Given the description of an element on the screen output the (x, y) to click on. 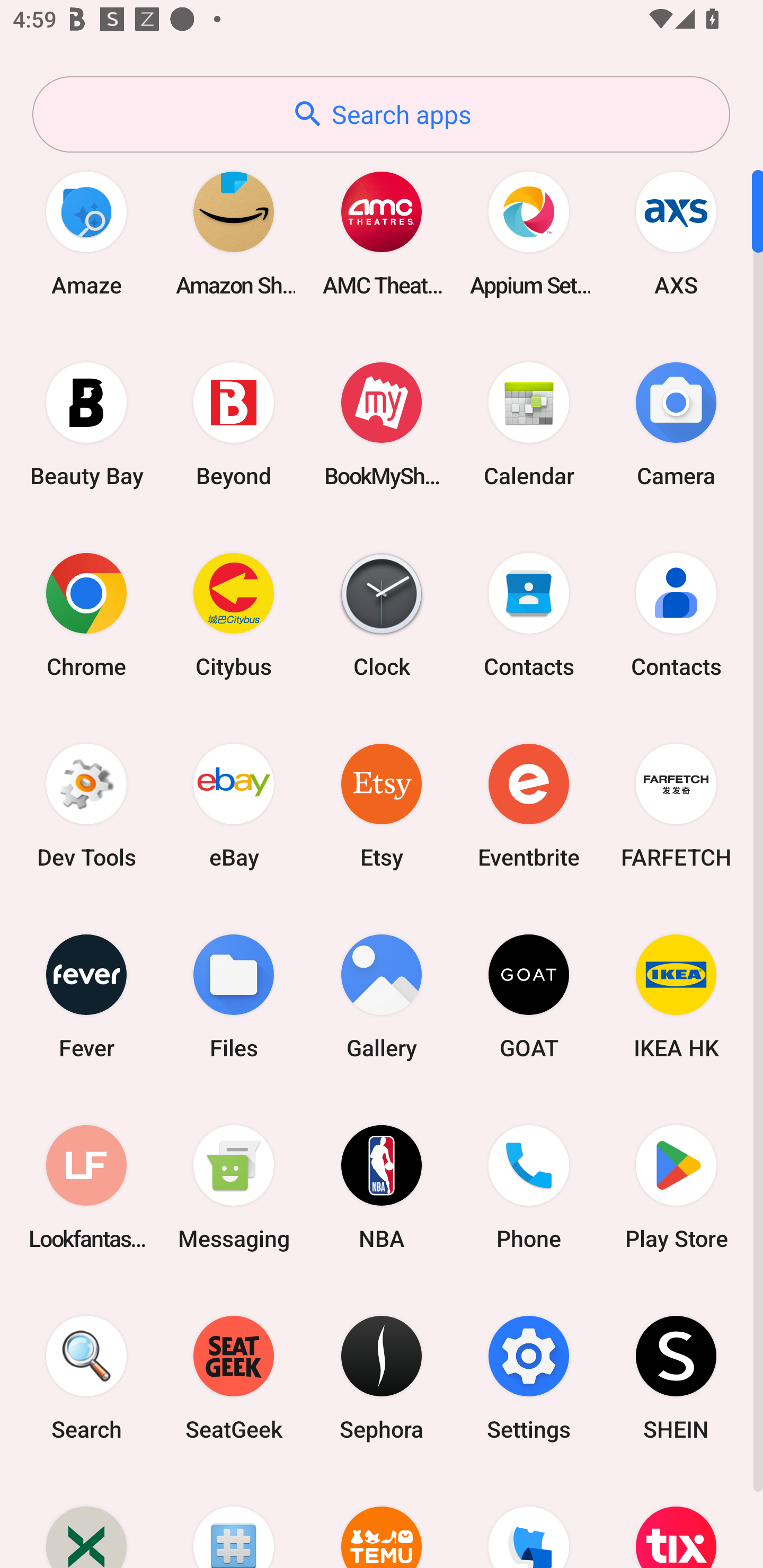
  Search apps (381, 114)
Amaze (86, 233)
Amazon Shopping (233, 233)
AMC Theatres (381, 233)
Appium Settings (528, 233)
AXS (676, 233)
Beauty Bay (86, 424)
Beyond (233, 424)
BookMyShow (381, 424)
Calendar (528, 424)
Camera (676, 424)
Chrome (86, 614)
Citybus (233, 614)
Clock (381, 614)
Contacts (528, 614)
Contacts (676, 614)
Dev Tools (86, 805)
eBay (233, 805)
Etsy (381, 805)
Eventbrite (528, 805)
FARFETCH (676, 805)
Fever (86, 996)
Files (233, 996)
Gallery (381, 996)
GOAT (528, 996)
IKEA HK (676, 996)
Lookfantastic (86, 1186)
Messaging (233, 1186)
NBA (381, 1186)
Phone (528, 1186)
Play Store (676, 1186)
Search (86, 1377)
SeatGeek (233, 1377)
Sephora (381, 1377)
Settings (528, 1377)
SHEIN (676, 1377)
StockX (86, 1520)
Superuser (233, 1520)
Temu (381, 1520)
TickPick (528, 1520)
TodayTix (676, 1520)
